Given the description of an element on the screen output the (x, y) to click on. 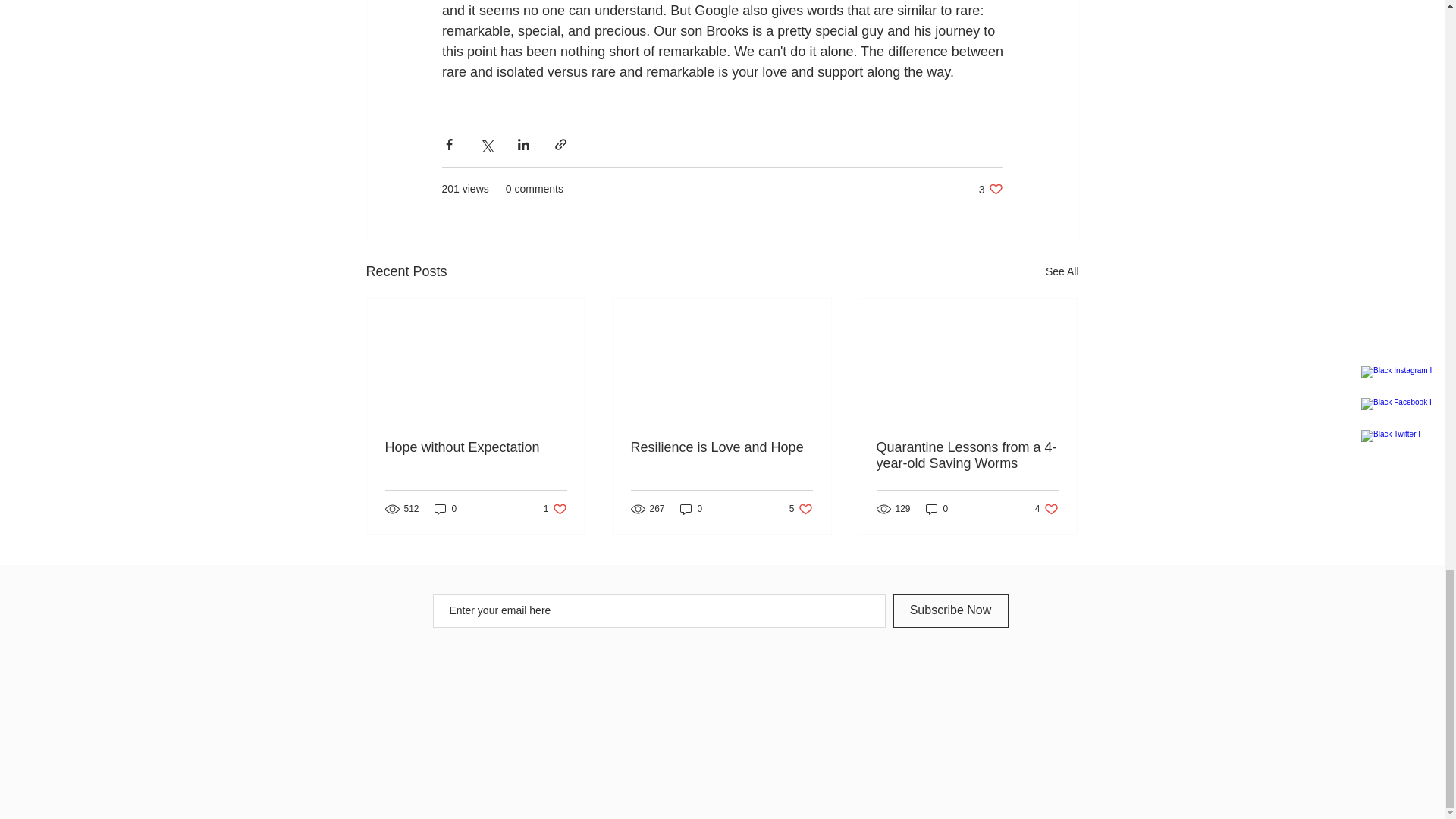
Resilience is Love and Hope (721, 447)
0 (937, 508)
Hope without Expectation (800, 508)
0 (555, 508)
See All (990, 188)
Quarantine Lessons from a 4-year-old Saving Worms (476, 447)
Subscribe Now (691, 508)
